Given the description of an element on the screen output the (x, y) to click on. 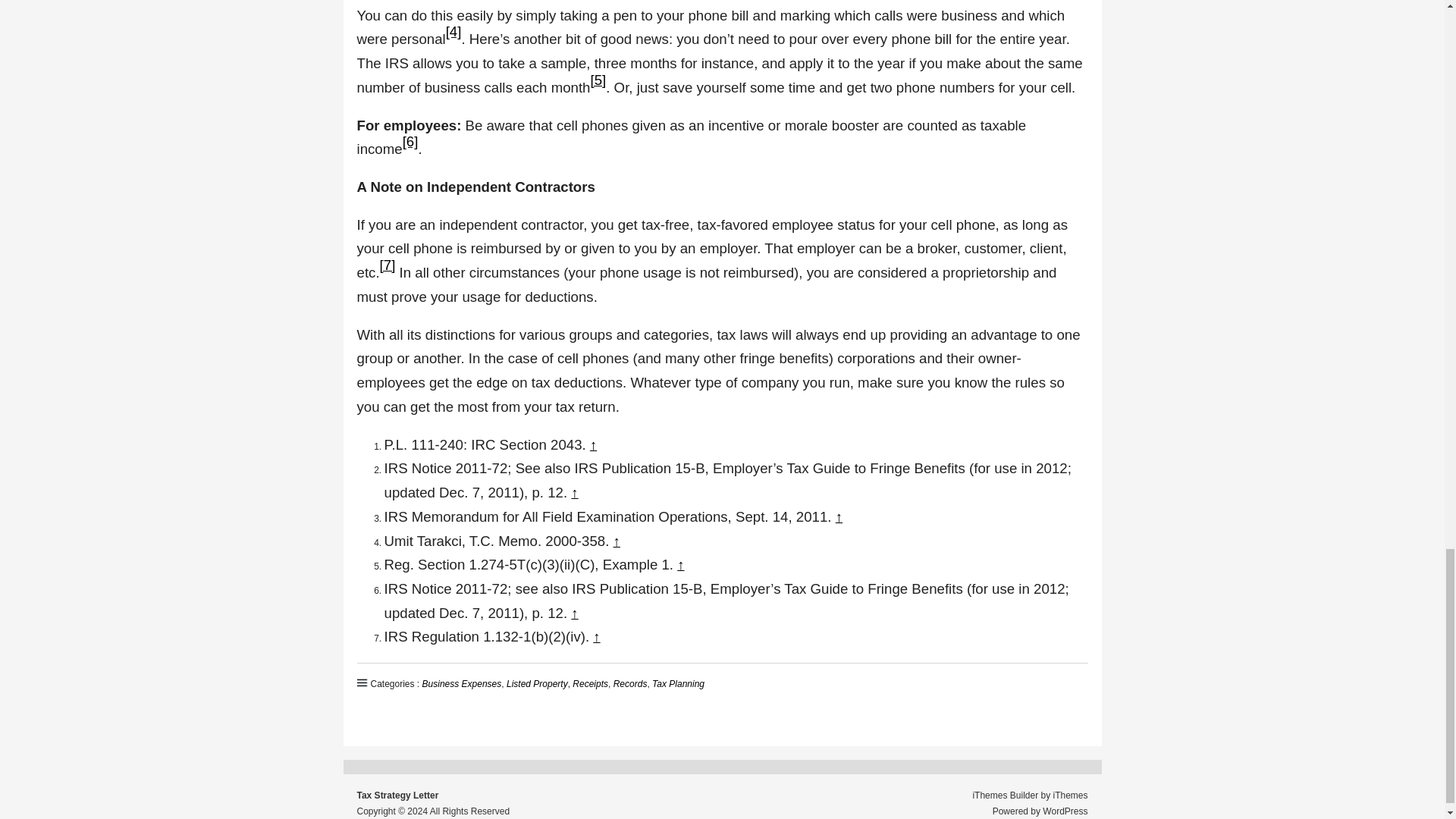
Business Expenses (462, 683)
Records (629, 683)
Receipts (590, 683)
iThemes (1069, 795)
iThemes Builder (1005, 795)
iThemes WordPress Themes (1069, 795)
Listed Property (536, 683)
iThemes Builder (1005, 795)
Tax Planning (678, 683)
WordPress (1064, 810)
